Given the description of an element on the screen output the (x, y) to click on. 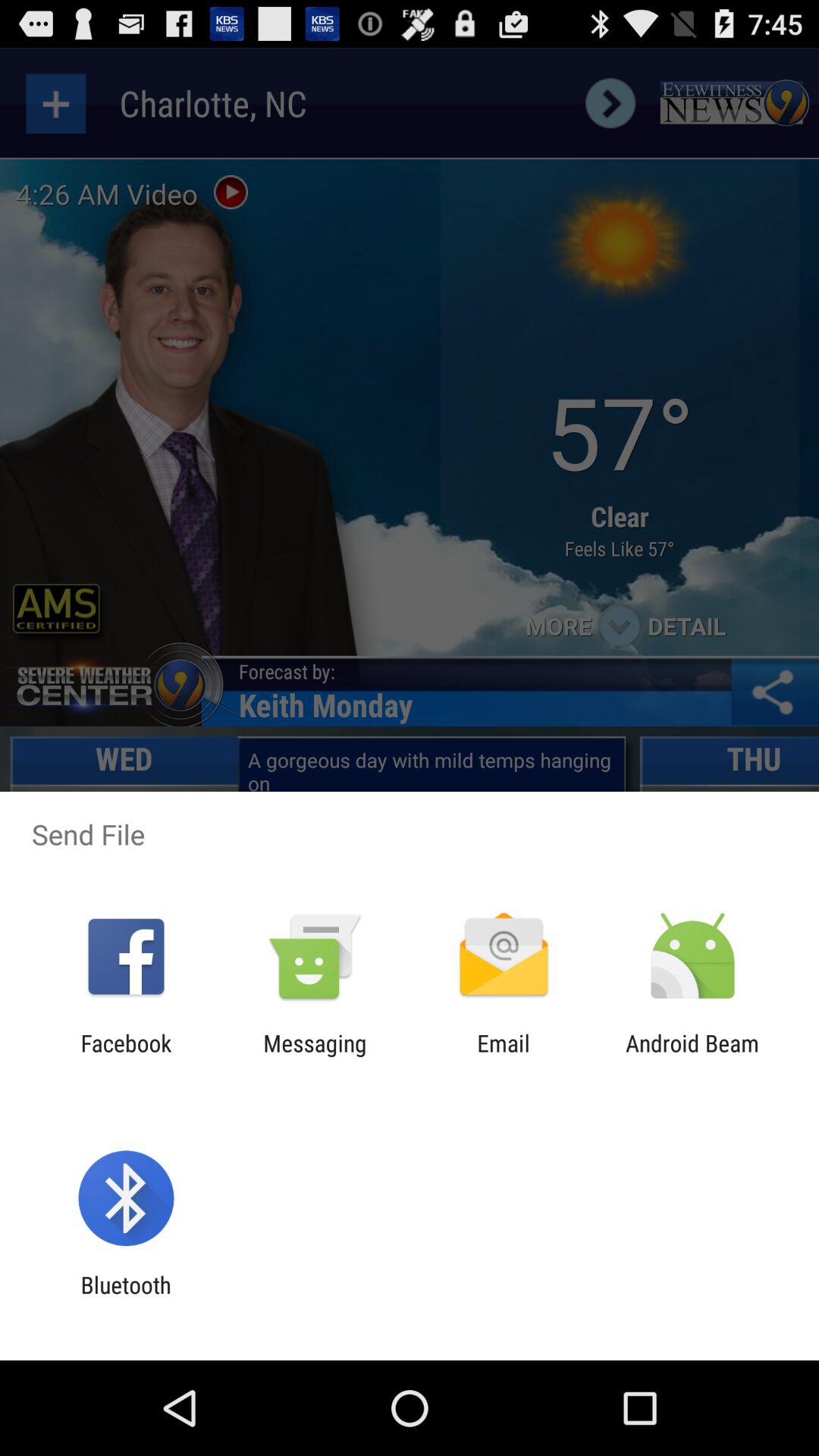
choose the bluetooth icon (125, 1298)
